Given the description of an element on the screen output the (x, y) to click on. 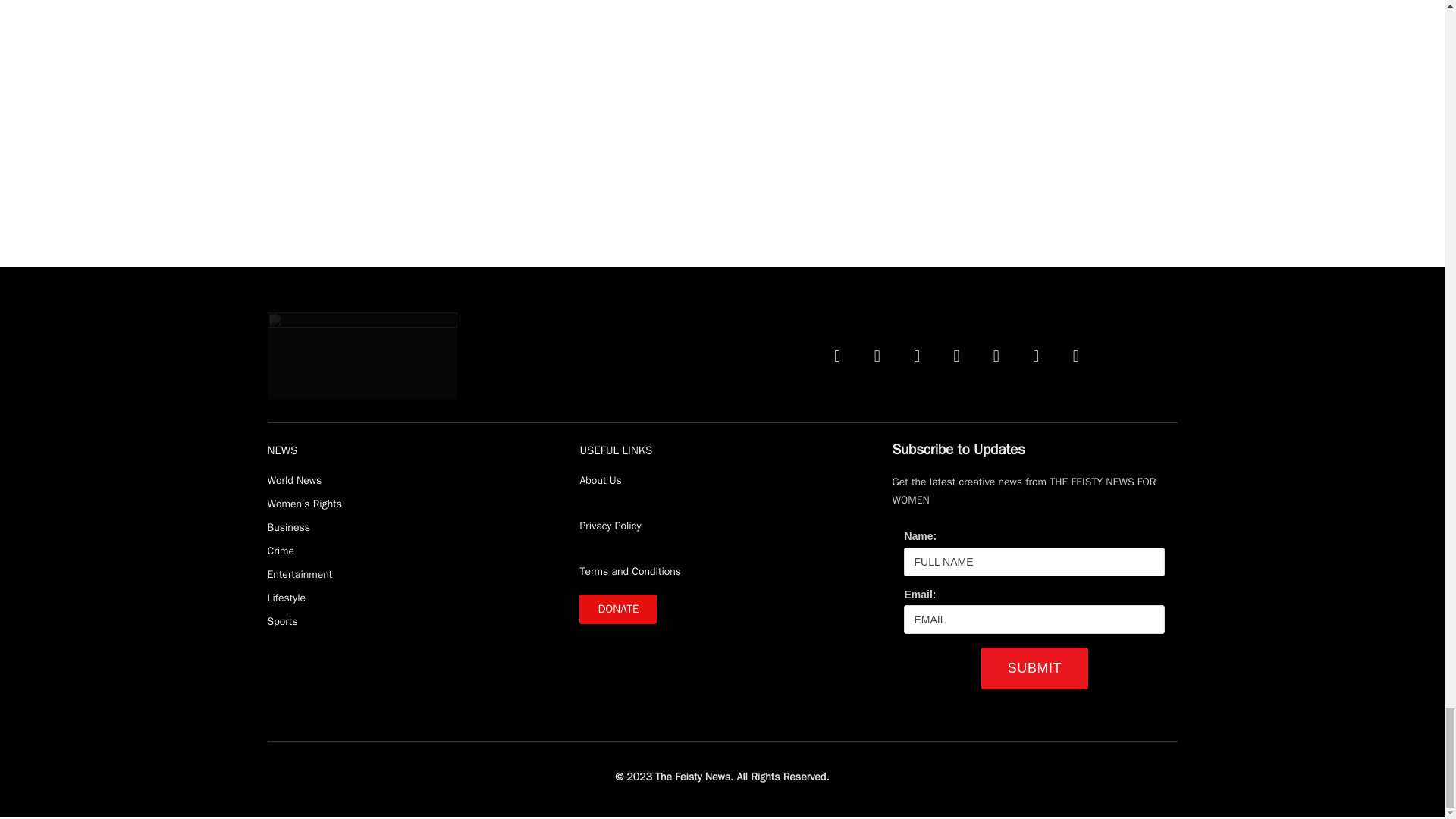
FULL NAME (1034, 561)
Submit (1034, 668)
EMAIL (1034, 619)
